Given the description of an element on the screen output the (x, y) to click on. 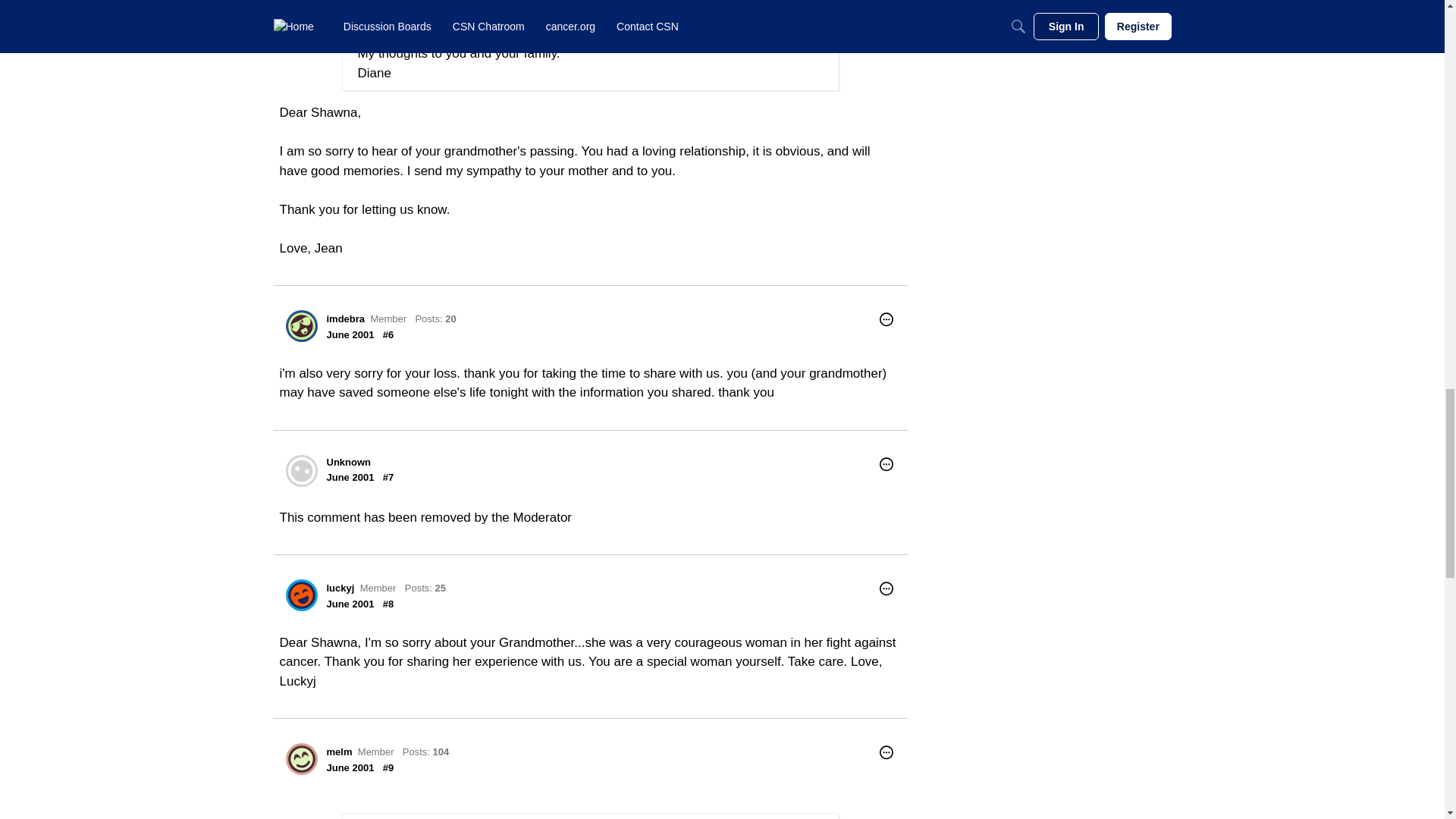
imdebra (345, 318)
confused (375, 1)
June 2001 (350, 334)
